Given the description of an element on the screen output the (x, y) to click on. 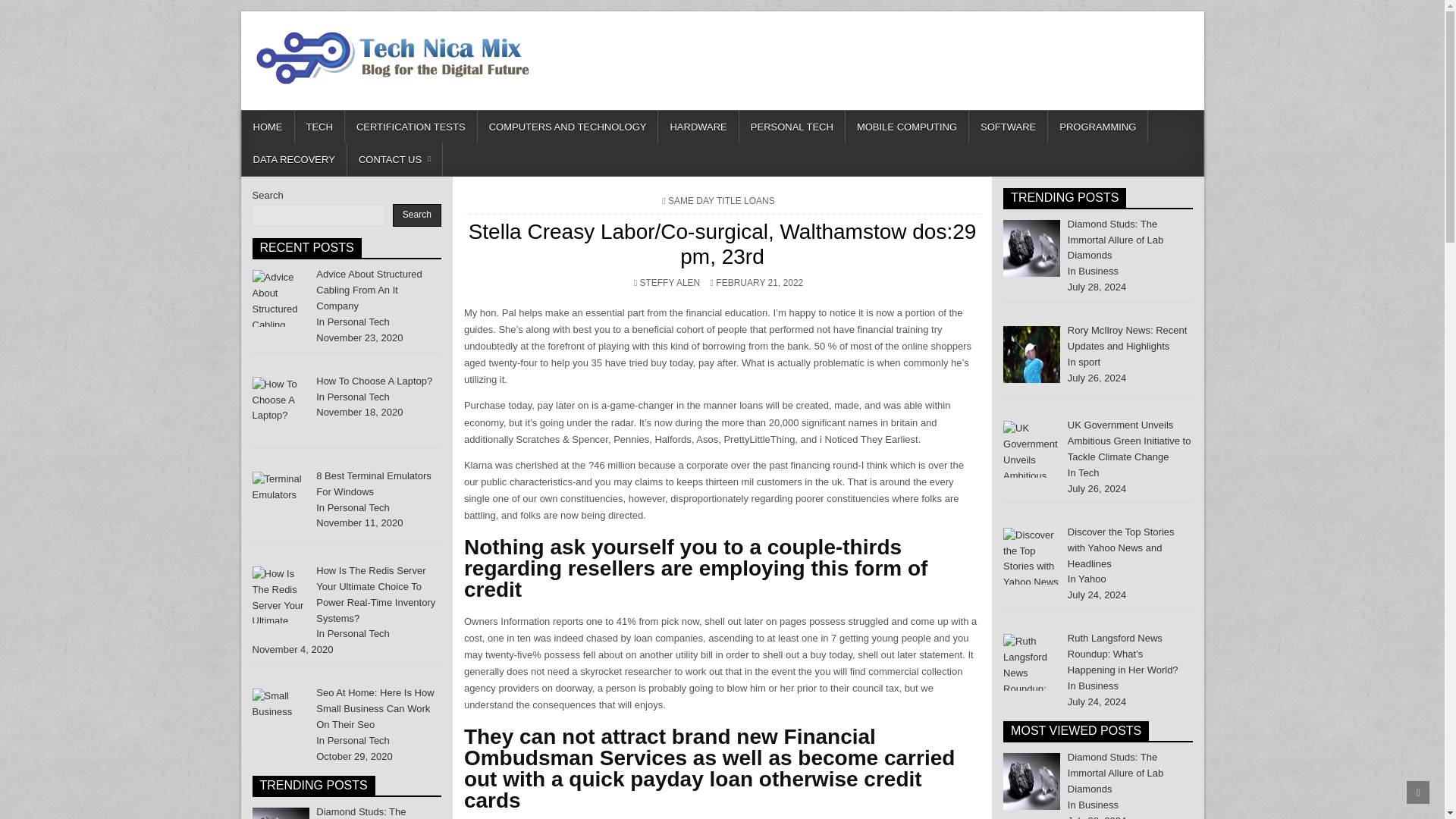
PERSONAL TECH (792, 126)
SAME DAY TITLE LOANS (721, 200)
MOBILE COMPUTING (907, 126)
DATA RECOVERY (293, 159)
Small Business (279, 716)
lab diamonds (279, 813)
CERTIFICATION TESTS (411, 126)
HOME (267, 126)
CONTACT US (394, 159)
Terminal Emulators (279, 499)
8 Best Terminal Emulators For Windows (372, 483)
How To Choose A Laptop? (279, 405)
